Given the description of an element on the screen output the (x, y) to click on. 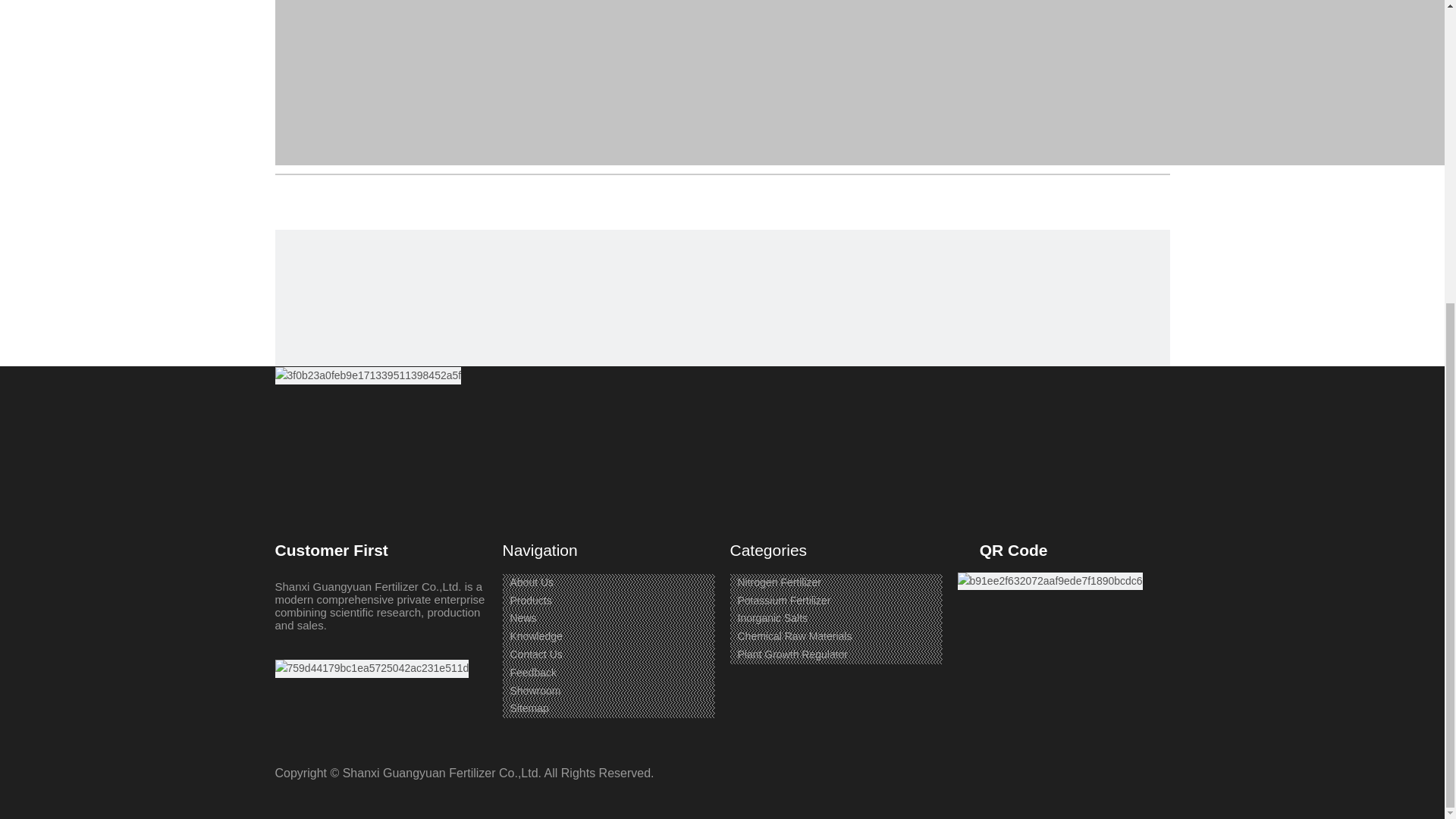
Contact Us (535, 654)
Sitemap (528, 707)
Chemical Raw Materials (793, 635)
Twitter (348, 217)
Inorganic Salts (772, 617)
Knowledge (535, 635)
Contact Us (535, 654)
Products (530, 600)
About Us (531, 582)
Sitemap (528, 707)
Showroom (534, 690)
Potassium Fertilizer (782, 600)
Linkedin (317, 217)
Nitrogen Fertilizer (778, 582)
Feedback (532, 672)
